Given the description of an element on the screen output the (x, y) to click on. 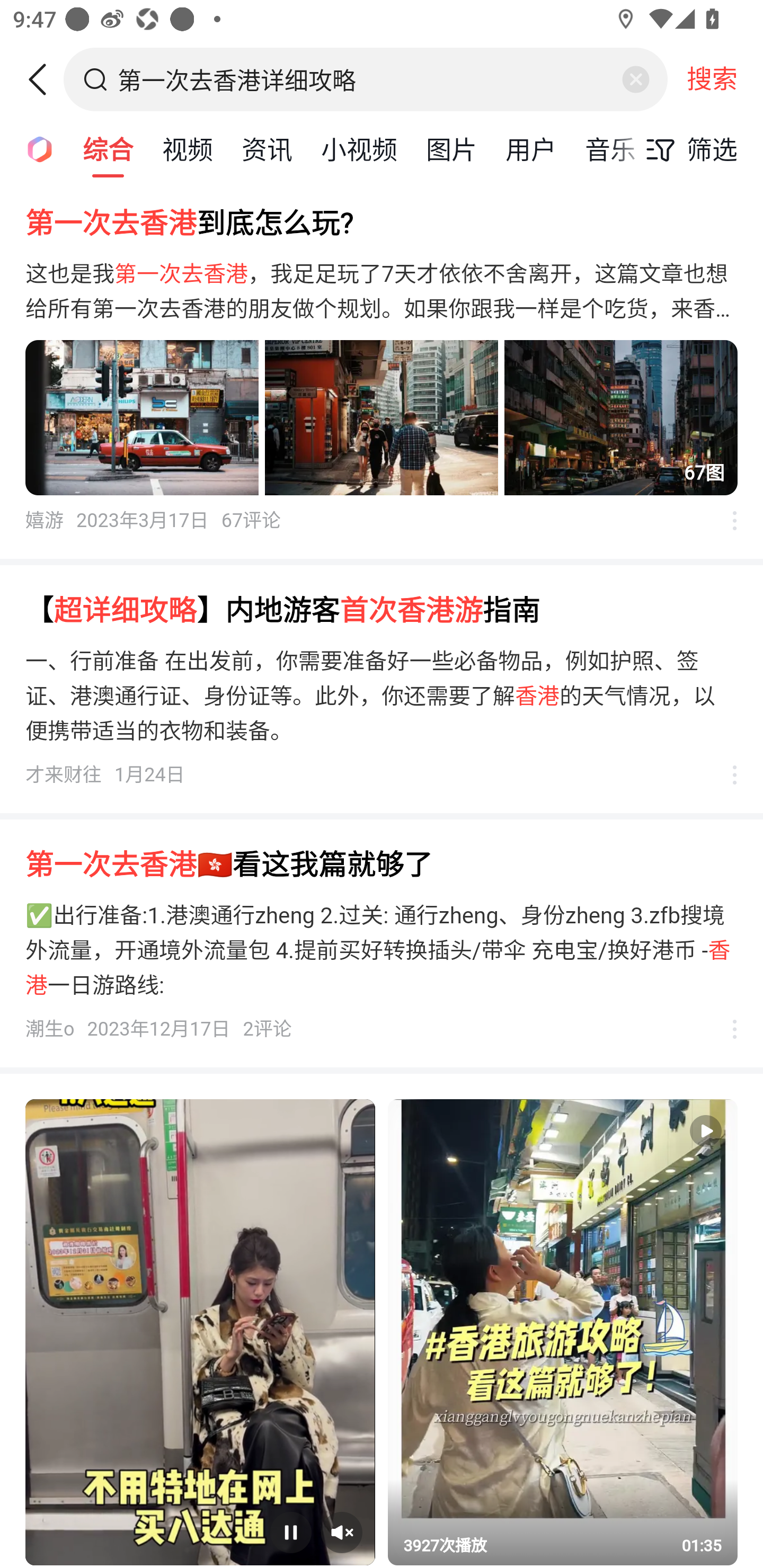
搜索框，第一次去香港详细攻略 (366, 79)
搜索 (711, 79)
返回 (44, 79)
清除 (635, 79)
视频 (187, 148)
资讯 (266, 148)
小视频 (359, 148)
图片 (451, 148)
用户 (530, 148)
筛选 (686, 149)
AI问答 (34, 148)
【超详细攻略】内地游客首次香港游指南 【 超详细攻略 】内地游客 首次香港游 指南 (381, 610)
才来财往 1月24日 (105, 774)
举报反馈 (724, 774)
第一次去香港🇭🇰看这我篇就够了 第一次去香港 🇭🇰看这我篇就够了 (381, 865)
潮生o 2023年12月17日2评论 (158, 1029)
举报反馈 (724, 1029)
取消静音 (341, 1532)
